Given the description of an element on the screen output the (x, y) to click on. 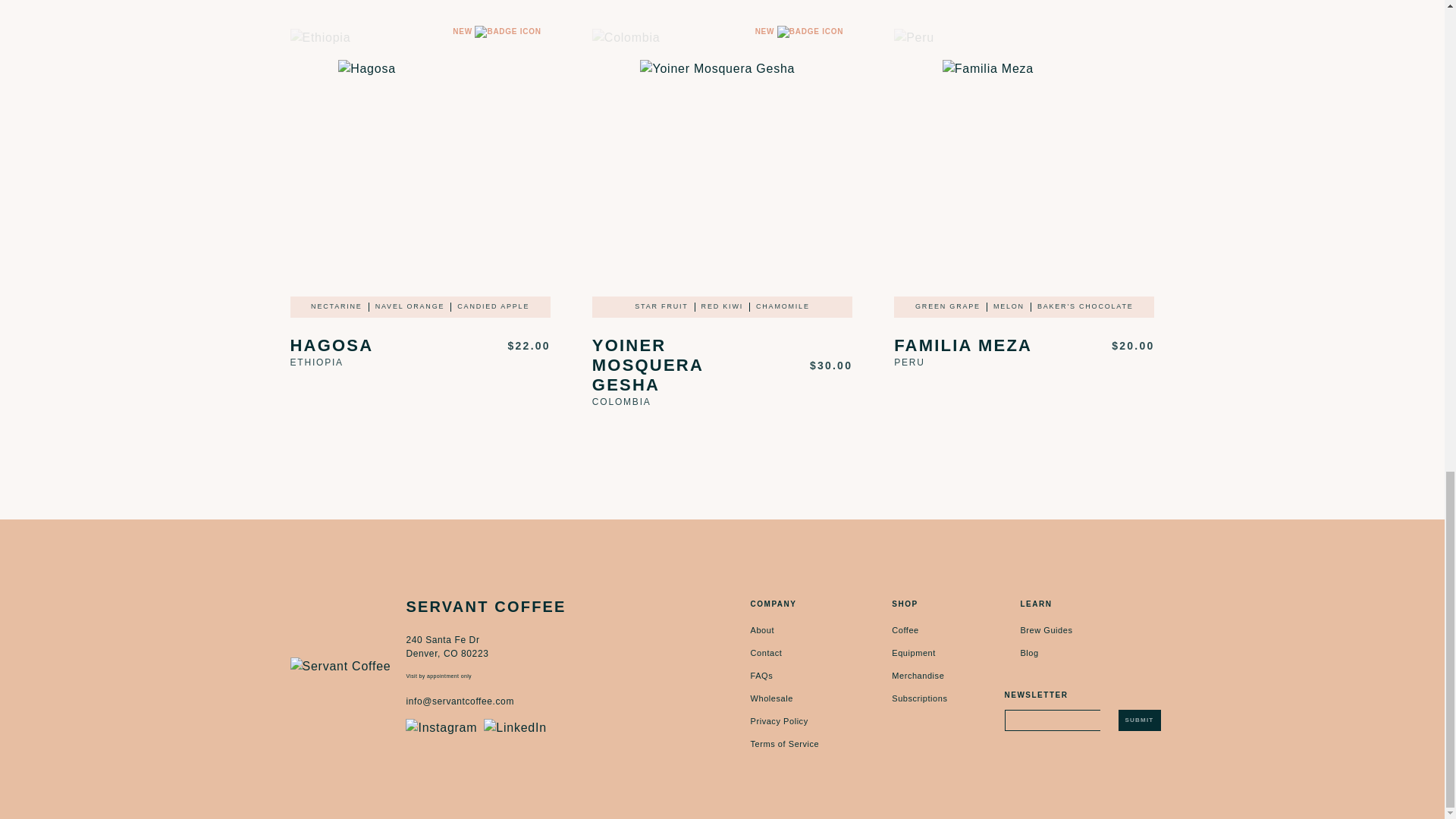
Instagram (441, 728)
COMPANY (773, 603)
NEW (419, 162)
HAGOSA (330, 345)
NEW (721, 162)
Submit (1139, 720)
Servant Coffee (339, 665)
FAMILIA MEZA (962, 345)
YOINER MOSQUERA GESHA (681, 364)
LinkedIn (515, 728)
